Given the description of an element on the screen output the (x, y) to click on. 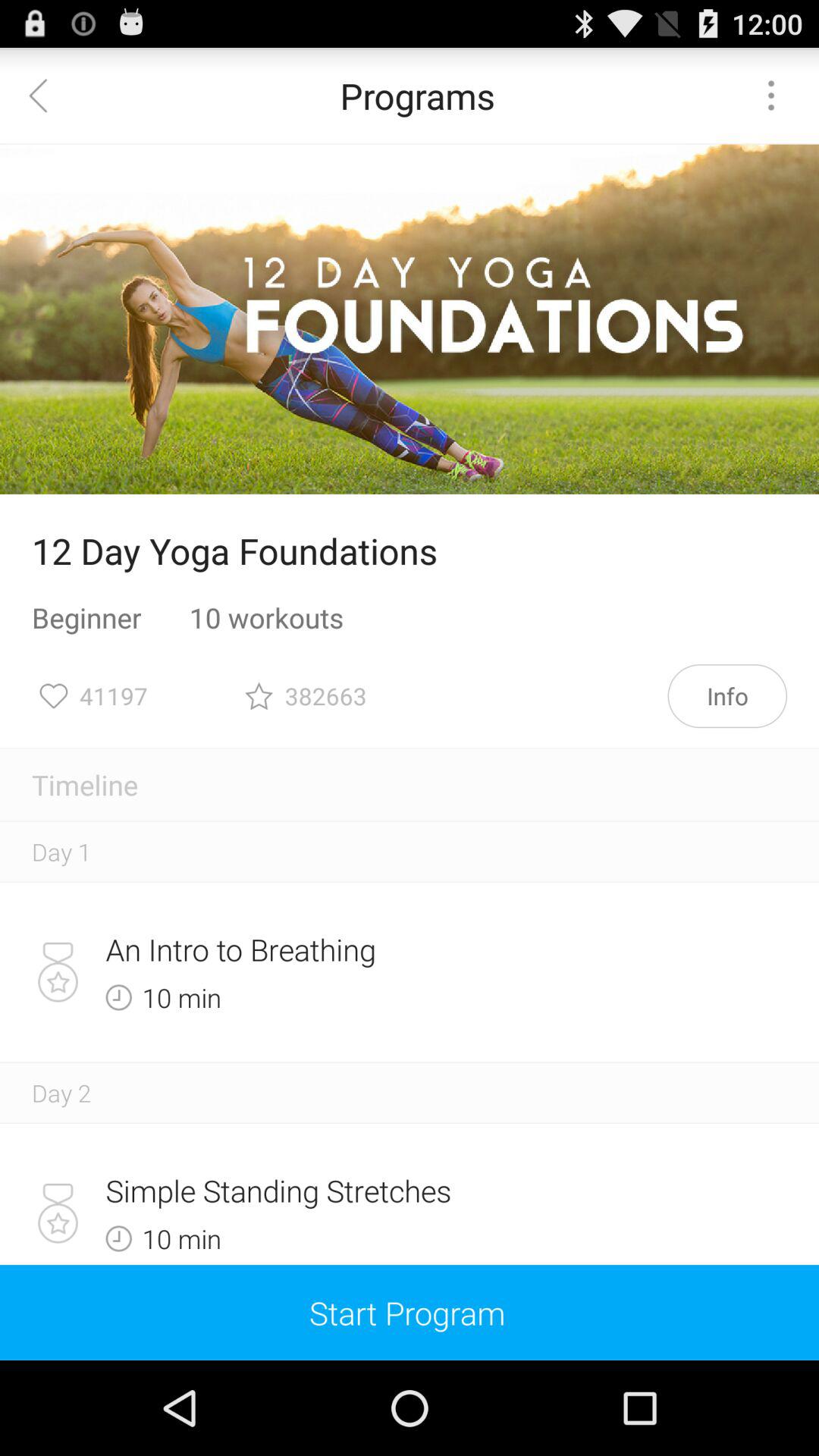
tap item above 10 min (356, 949)
